Given the description of an element on the screen output the (x, y) to click on. 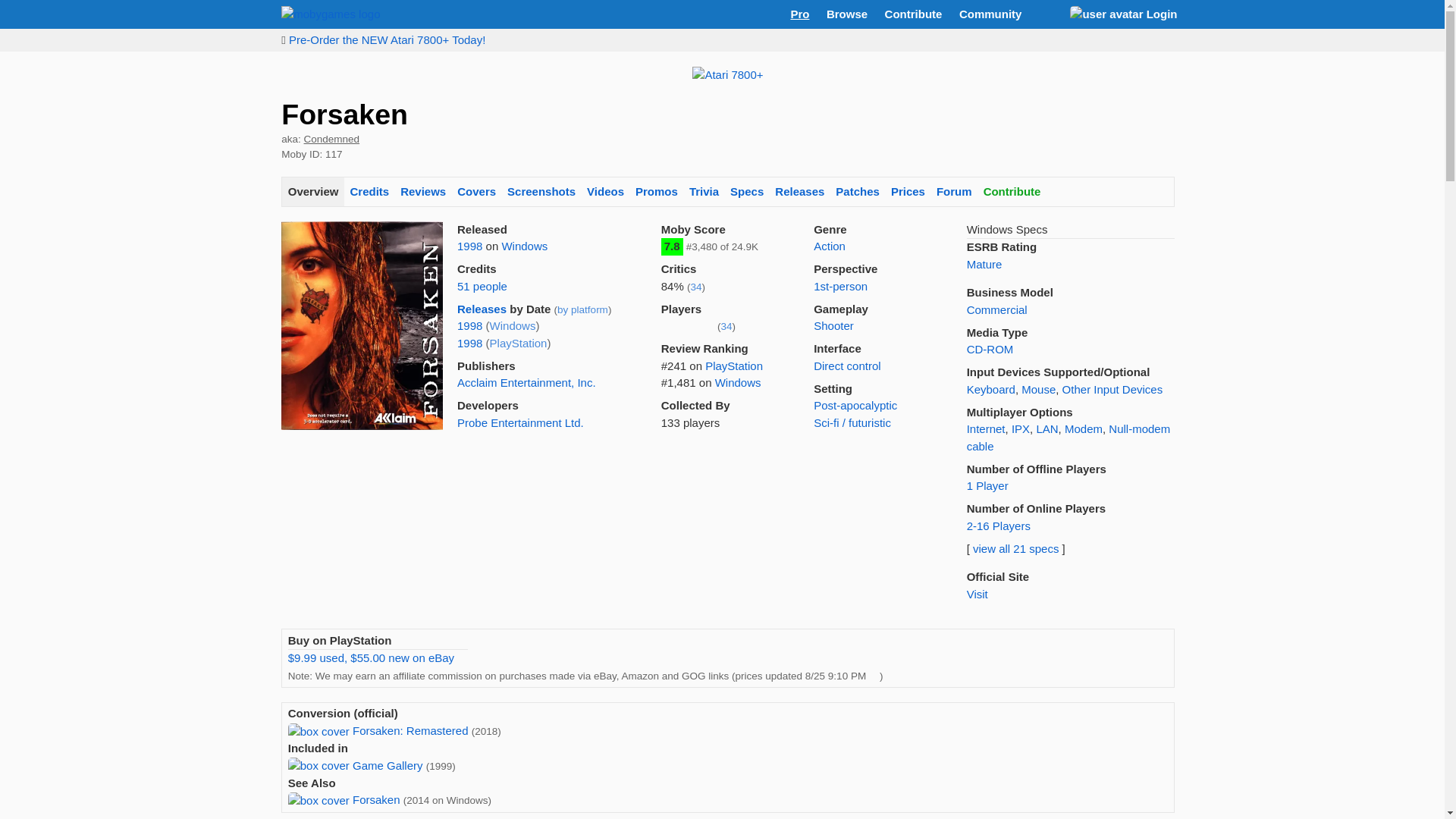
Pro (799, 13)
Covers (476, 192)
Overview (312, 192)
Screenshots (541, 192)
Credits (368, 192)
Trivia (702, 192)
Specs (747, 192)
Reviews (422, 192)
Patches (857, 192)
Videos (605, 192)
